Given the description of an element on the screen output the (x, y) to click on. 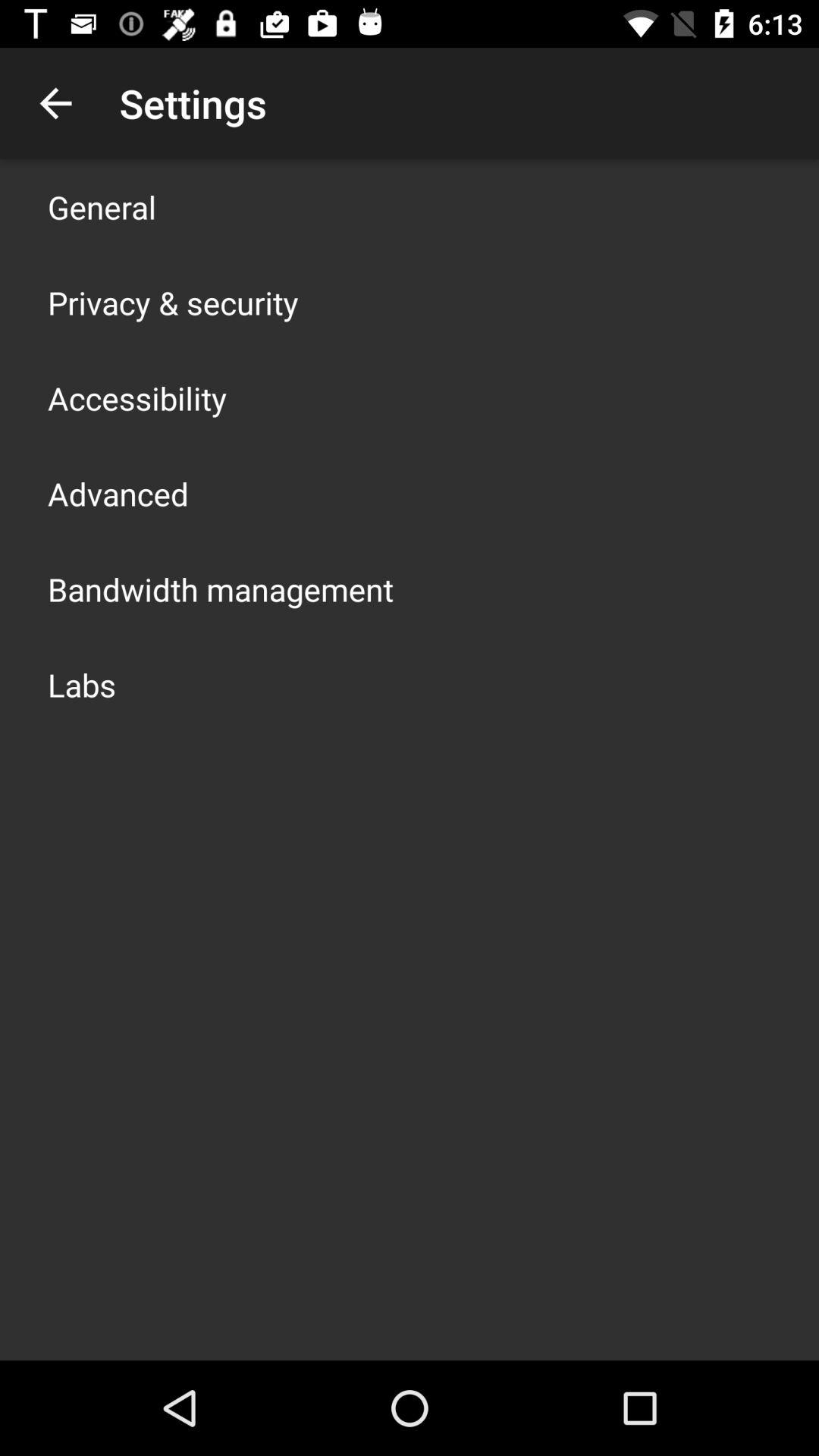
open the item below general icon (172, 302)
